Given the description of an element on the screen output the (x, y) to click on. 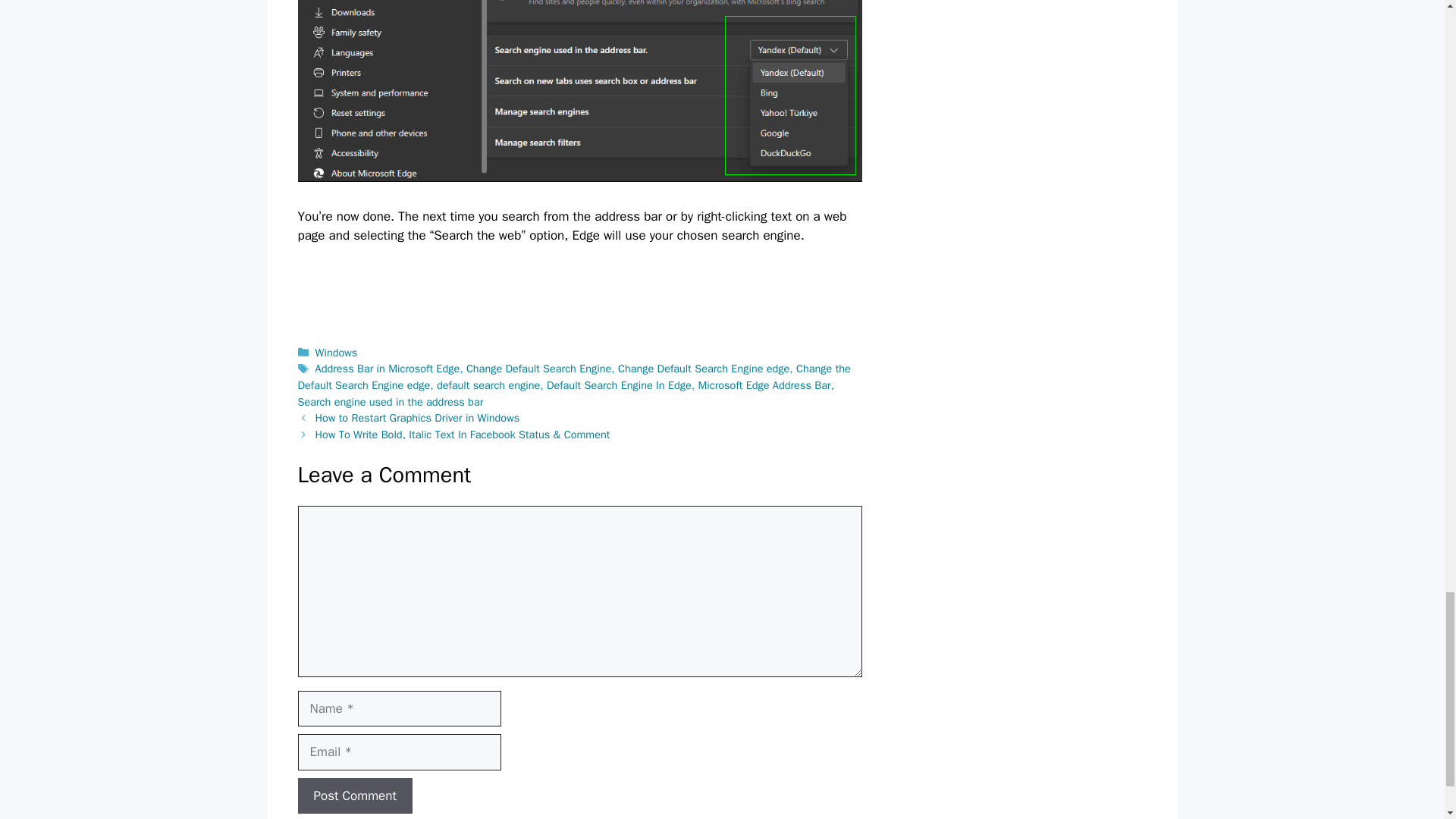
Post Comment (354, 796)
 the option Search engine (579, 90)
